Given the description of an element on the screen output the (x, y) to click on. 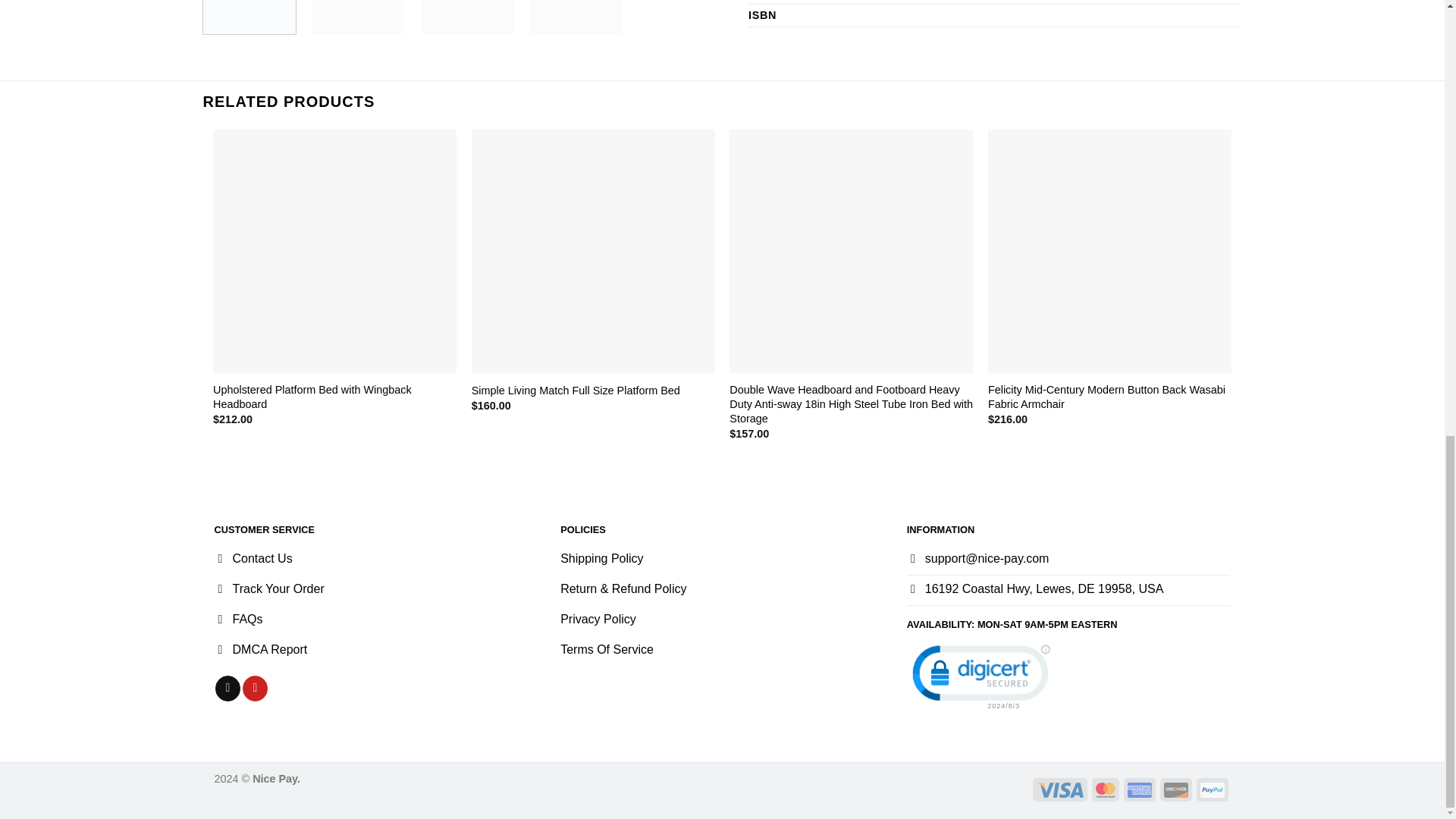
Follow on X (227, 688)
Created with Sketch. (1211, 789)
Created with Sketch. (1138, 789)
Follow on Pinterest (255, 688)
Created with Sketch. (1175, 789)
